Given the description of an element on the screen output the (x, y) to click on. 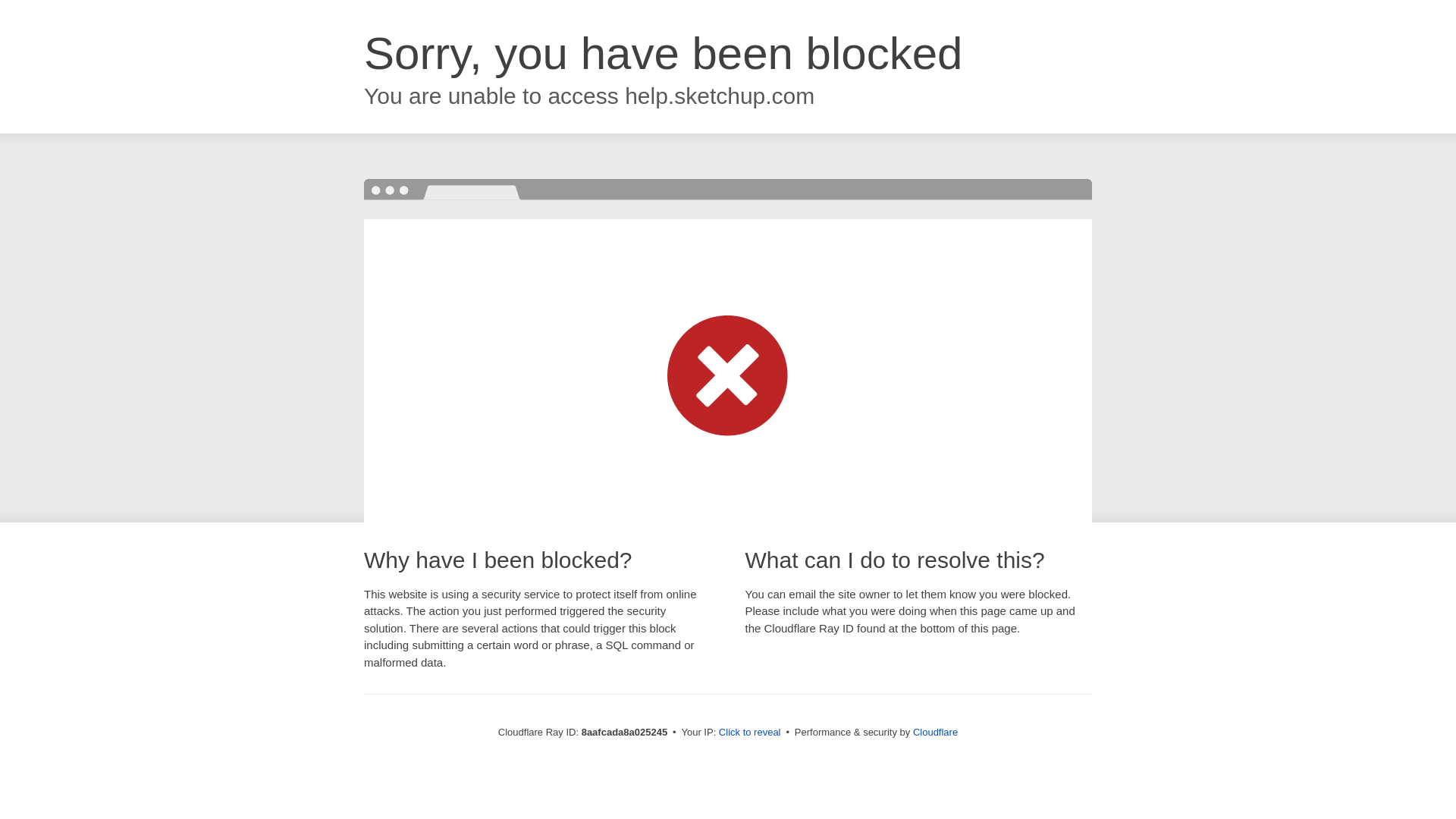
Cloudflare (935, 731)
Click to reveal (749, 732)
